Given the description of an element on the screen output the (x, y) to click on. 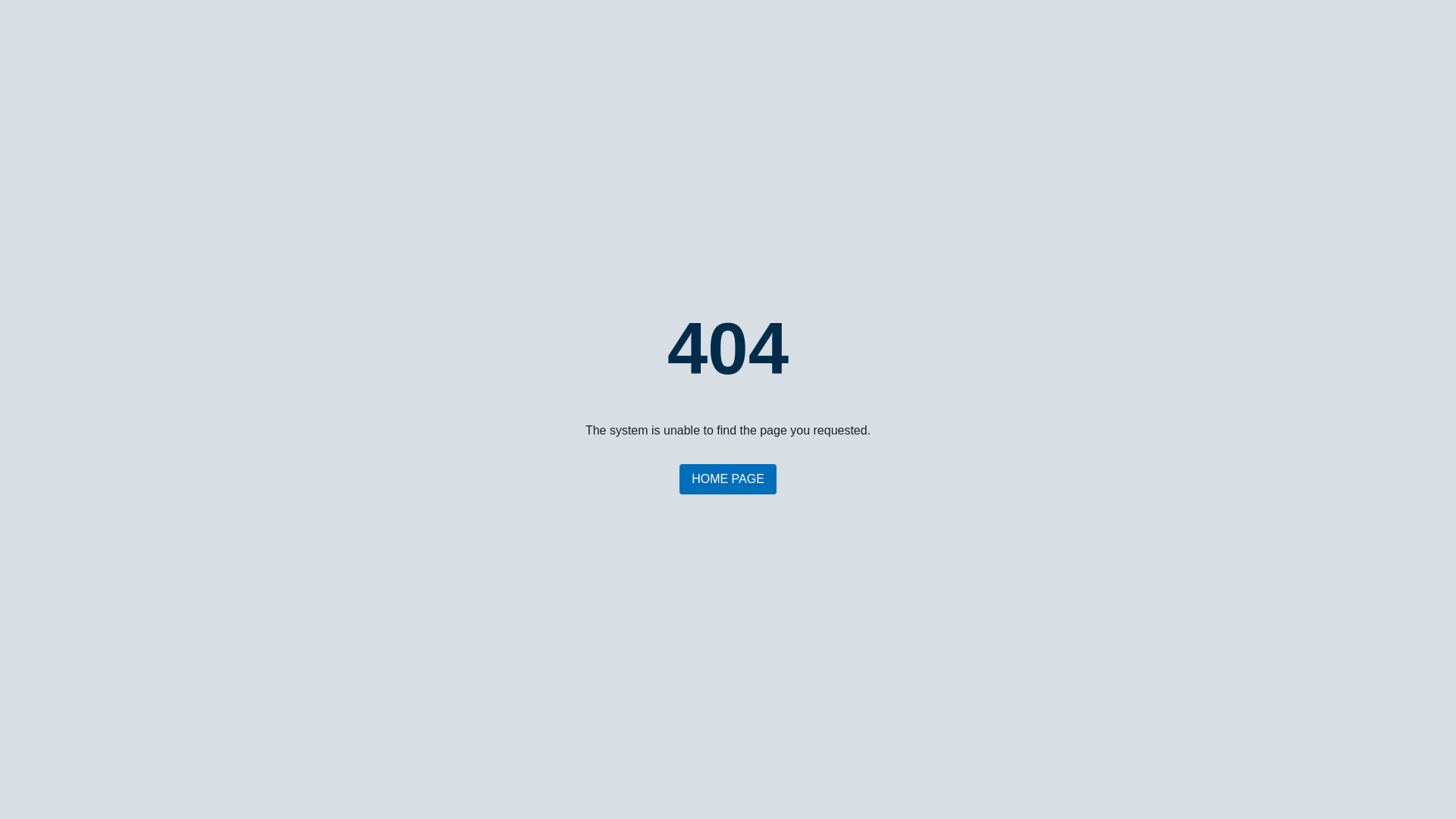
HOME PAGE Element type: text (727, 479)
